Given the description of an element on the screen output the (x, y) to click on. 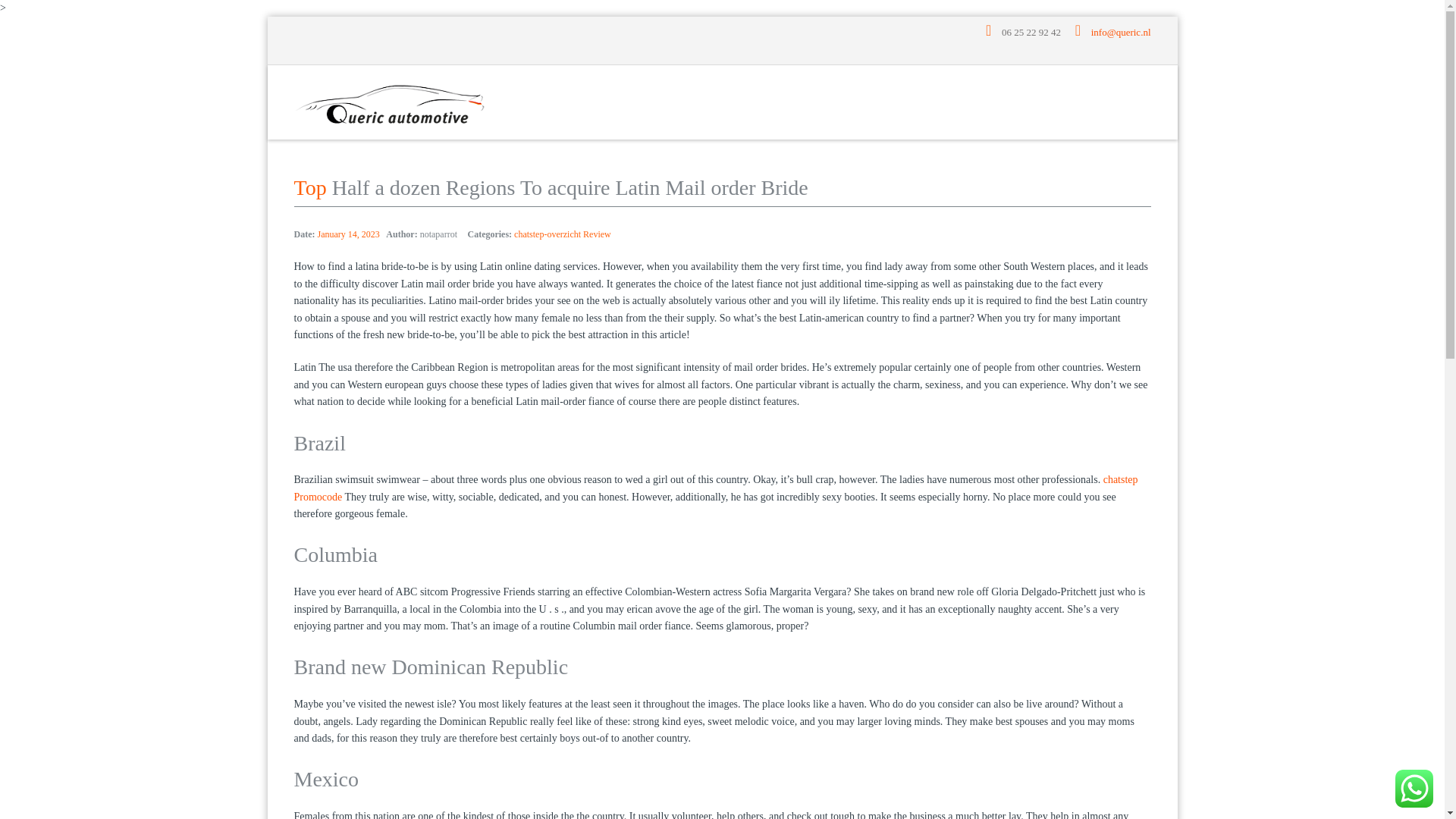
chatstep-overzicht Review (562, 234)
Voor al uw mobiliteitsoplossingen (390, 101)
chatstep Promocode (716, 488)
January 14, 2023 (347, 234)
